Given the description of an element on the screen output the (x, y) to click on. 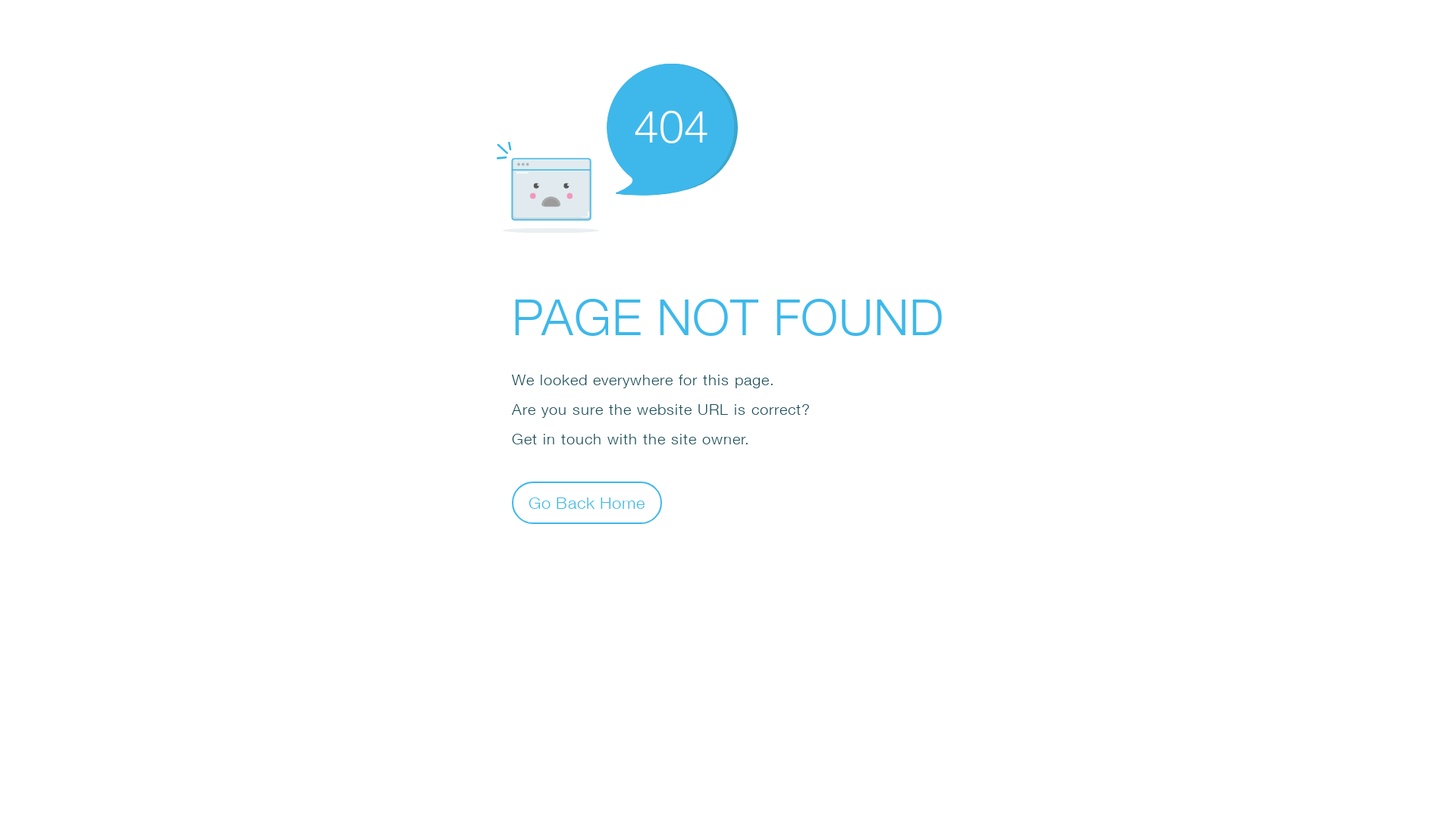
Go Back Home Element type: text (586, 502)
